Given the description of an element on the screen output the (x, y) to click on. 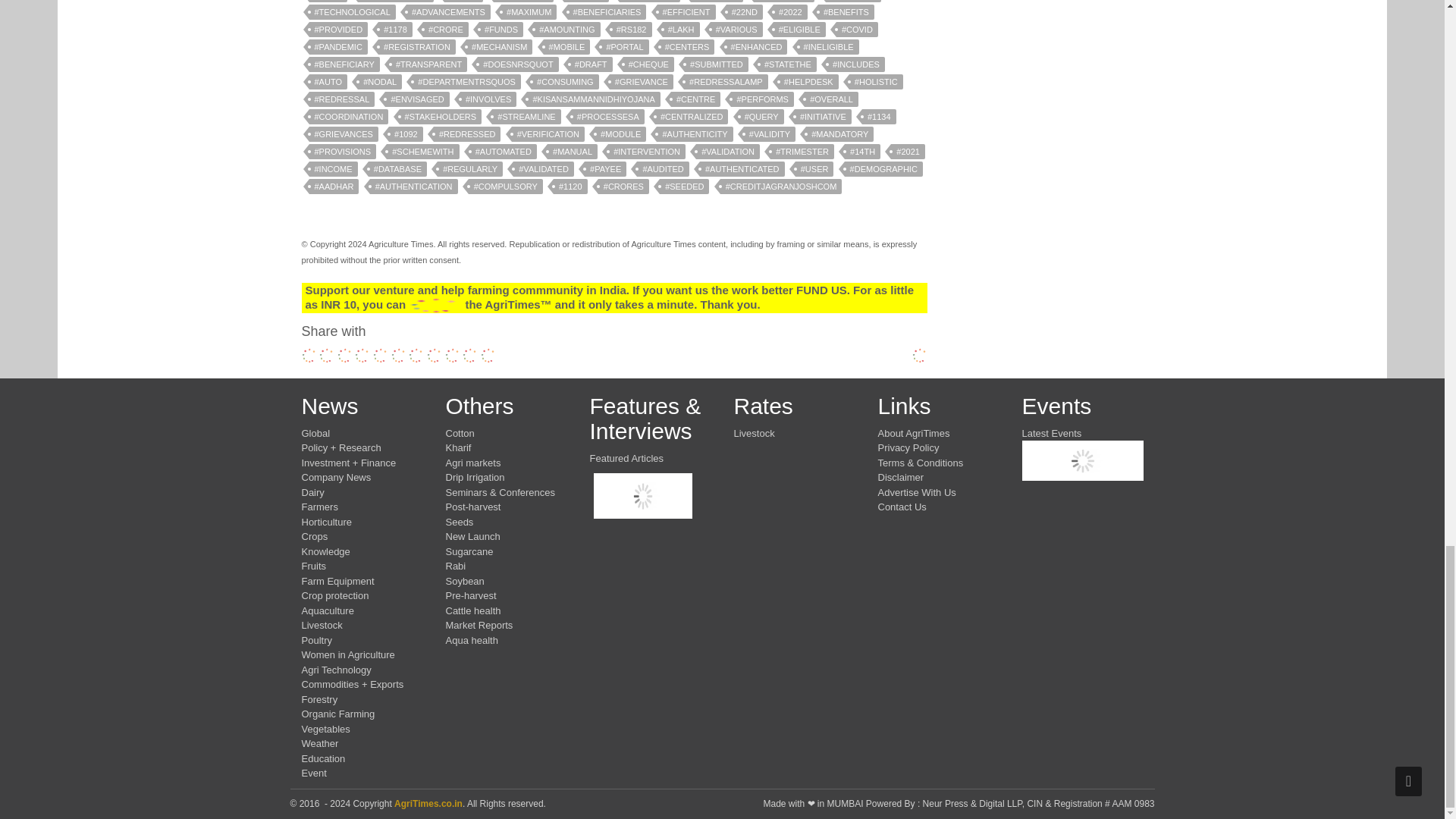
SMS (452, 355)
Tumblr (380, 355)
Digg (416, 355)
Linkedin (362, 355)
StumbleUpon (470, 355)
Twitter (344, 355)
Whatsapp (326, 355)
Facebook (309, 355)
Buffer (434, 355)
Reddit (398, 355)
